Given the description of an element on the screen output the (x, y) to click on. 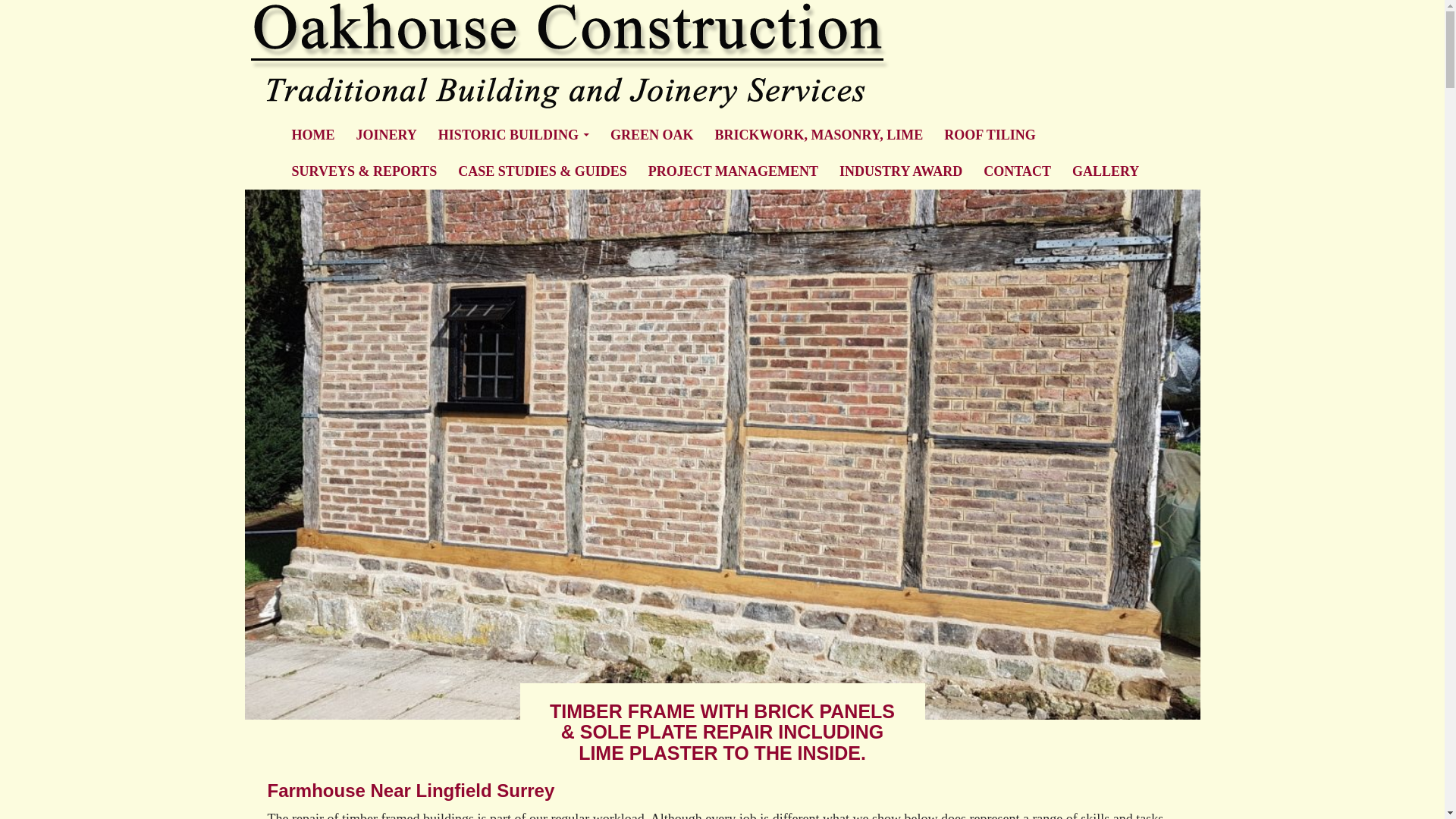
HOME (312, 135)
INDUSTRY AWARD (900, 171)
CONTACT (1016, 171)
PROJECT MANAGEMENT (733, 171)
JOINERY (385, 135)
GREEN OAK (652, 135)
HISTORIC BUILDING (513, 135)
BRICKWORK, MASONRY, LIME (819, 135)
GALLERY (1105, 171)
Oakhouse Construction (395, 135)
ROOF TILING (989, 135)
